Given the description of an element on the screen output the (x, y) to click on. 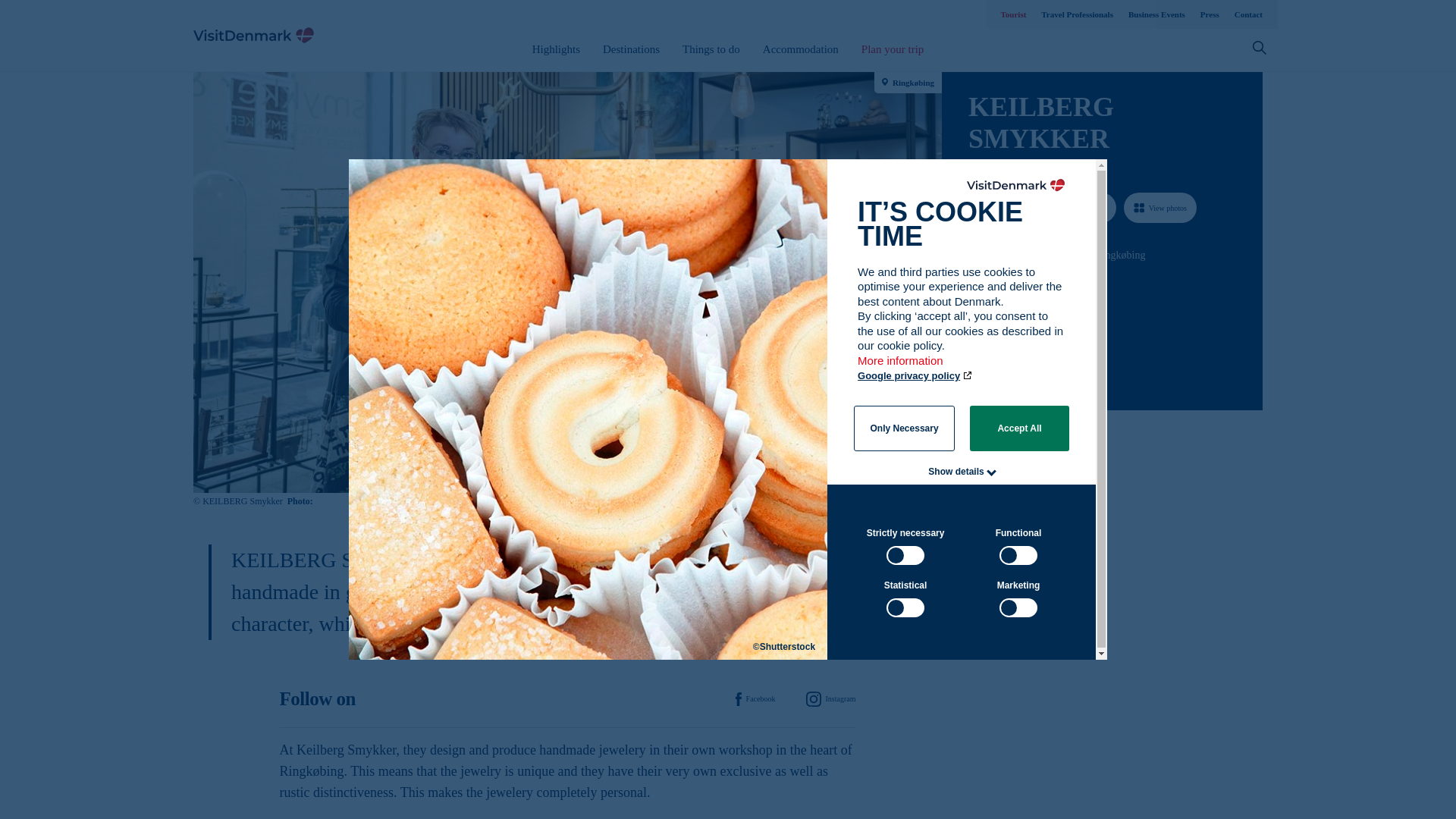
Google privacy policy (915, 375)
Path (973, 342)
Accept All (1018, 428)
Only Necessary (904, 428)
Show details (956, 471)
More information (900, 367)
